Given the description of an element on the screen output the (x, y) to click on. 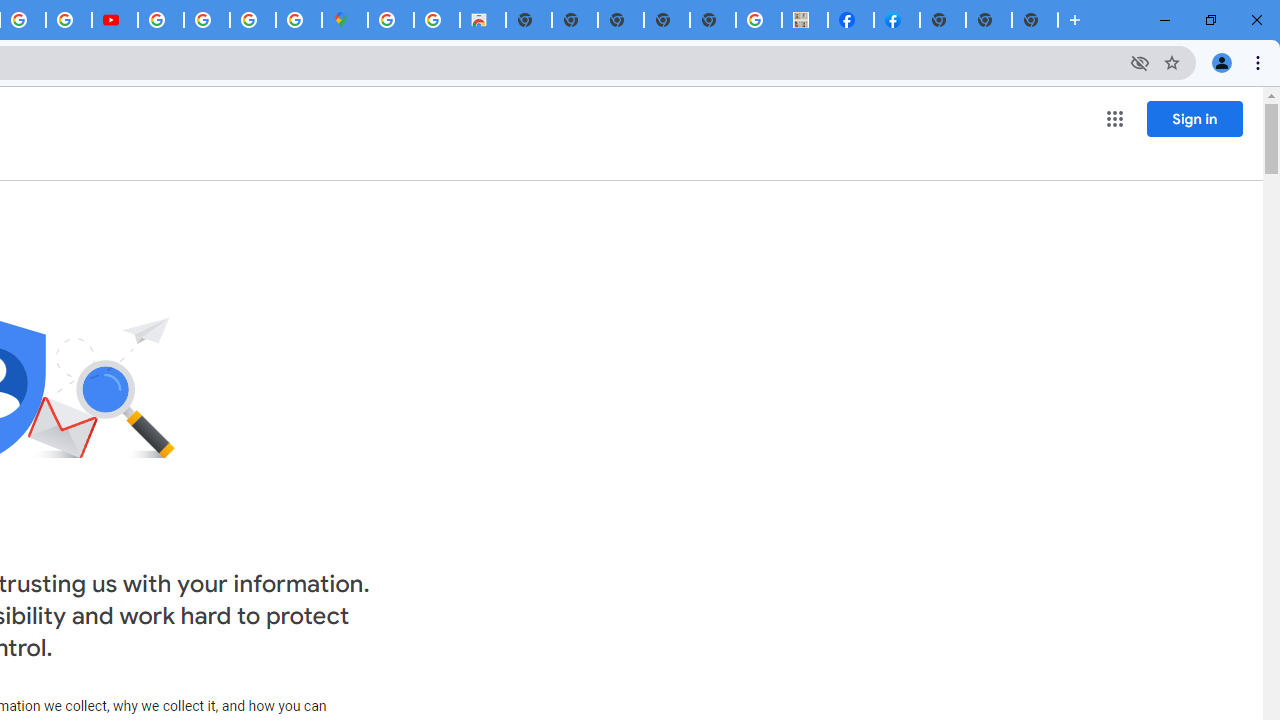
New Tab (943, 20)
Chrome Web Store - Shopping (482, 20)
Subscriptions - YouTube (115, 20)
How Chrome protects your passwords - Google Chrome Help (161, 20)
